Given the description of an element on the screen output the (x, y) to click on. 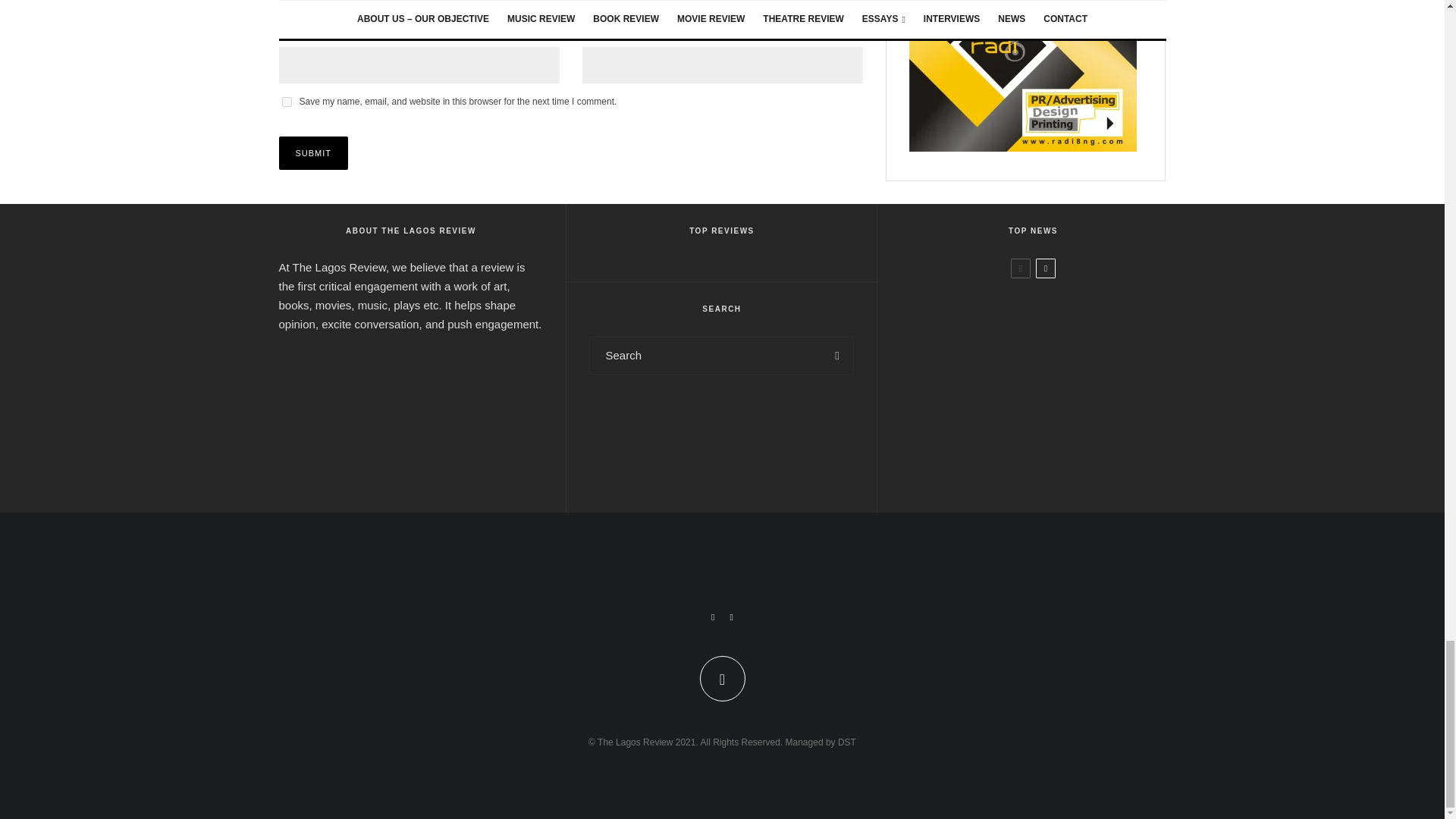
Submit (314, 152)
yes (287, 102)
